Given the description of an element on the screen output the (x, y) to click on. 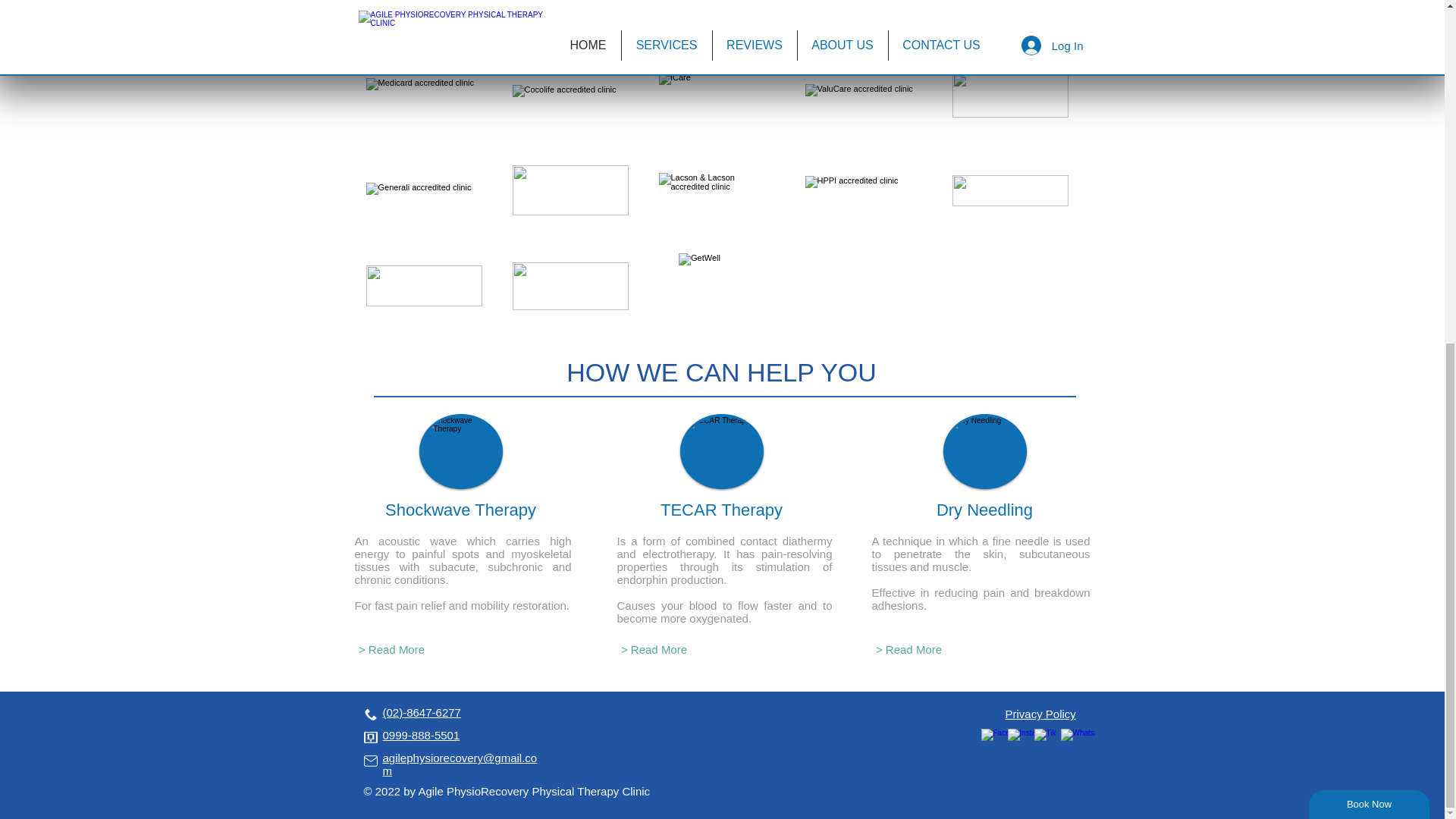
TECAR Therapy (720, 451)
0999-888-5501 (420, 735)
Dry Needling (984, 451)
Privacy Policy (1040, 713)
Book Now (1368, 218)
Shockwave Therapy (460, 451)
